Given the description of an element on the screen output the (x, y) to click on. 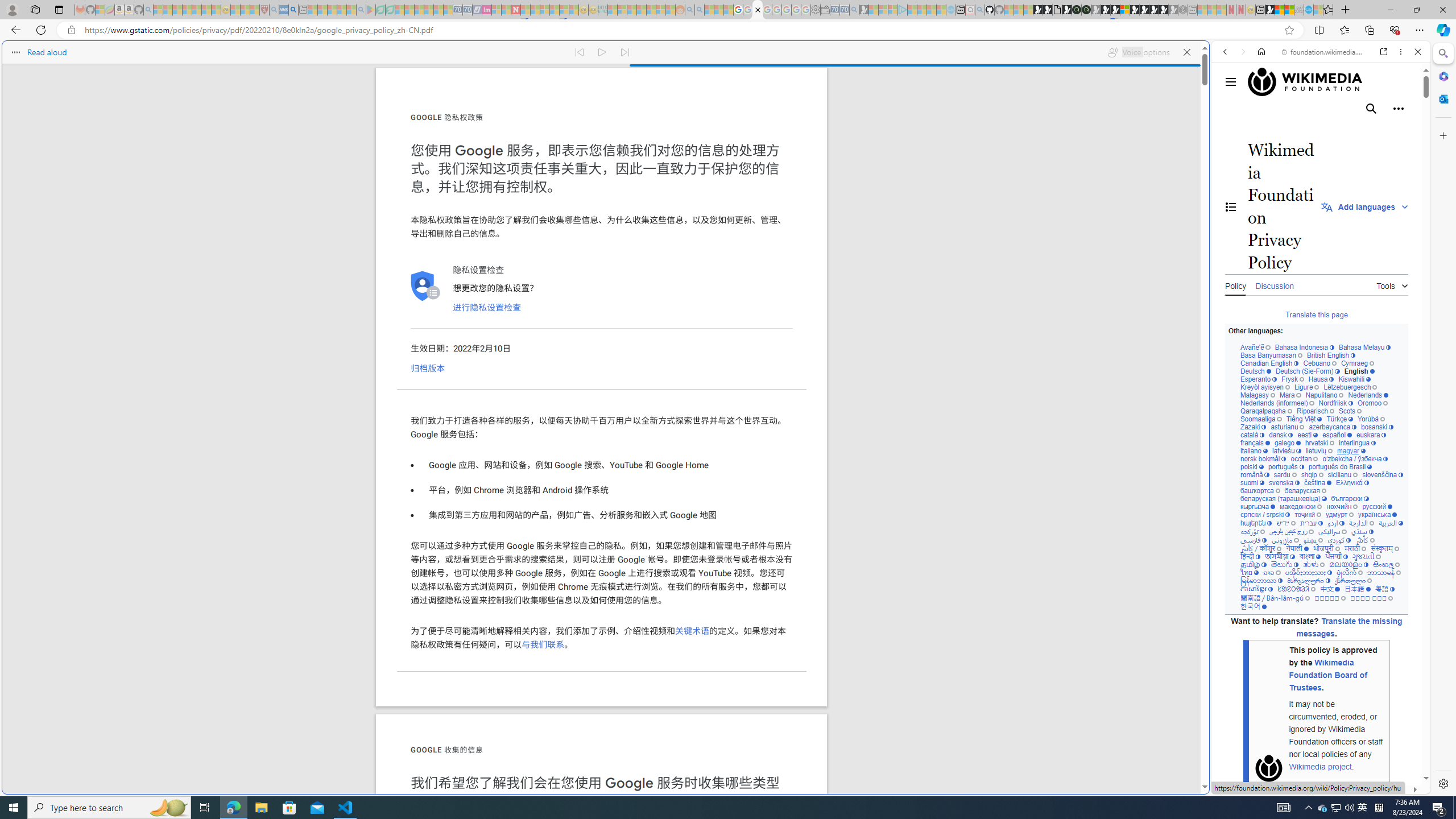
Nederlands (1368, 395)
Mara (1290, 395)
Soomaaliga (1260, 419)
utah sues federal government - Search (922, 389)
Read previous paragraph (579, 52)
Bahasa Melayu (1364, 347)
dansk (1280, 434)
Read next paragraph (624, 52)
